Given the description of an element on the screen output the (x, y) to click on. 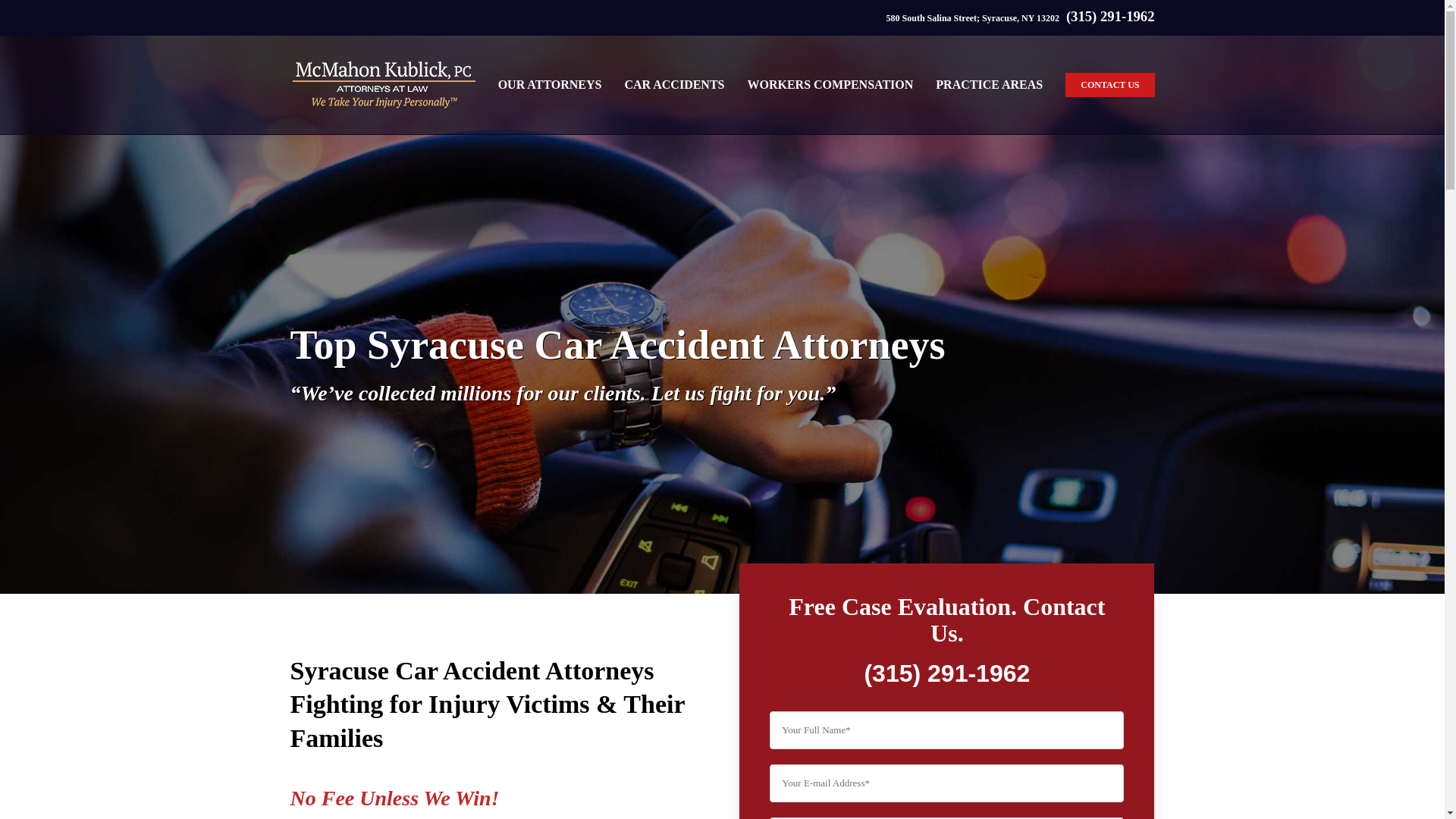
WORKERS COMPENSATION (829, 85)
CAR ACCIDENTS (673, 85)
OUR ATTORNEYS (549, 85)
CONTACT US (1109, 85)
PRACTICE AREAS (989, 85)
